Given the description of an element on the screen output the (x, y) to click on. 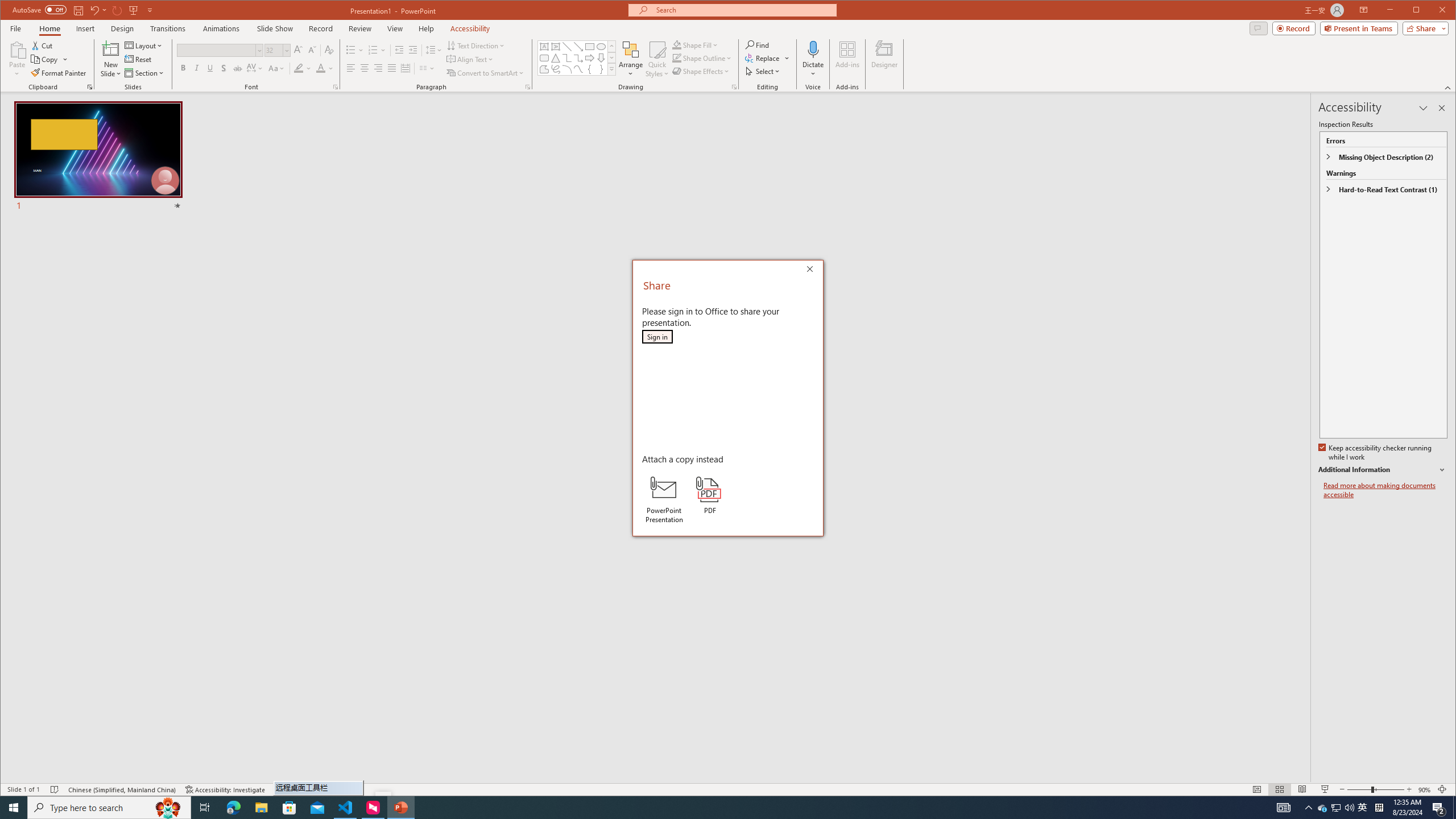
Select (763, 70)
Strikethrough (237, 68)
Show desktop (1454, 807)
Shape Outline (702, 57)
Clear Formatting (328, 49)
Zoom 90% (1424, 789)
Shapes (611, 69)
Format Painter (59, 72)
